Given the description of an element on the screen output the (x, y) to click on. 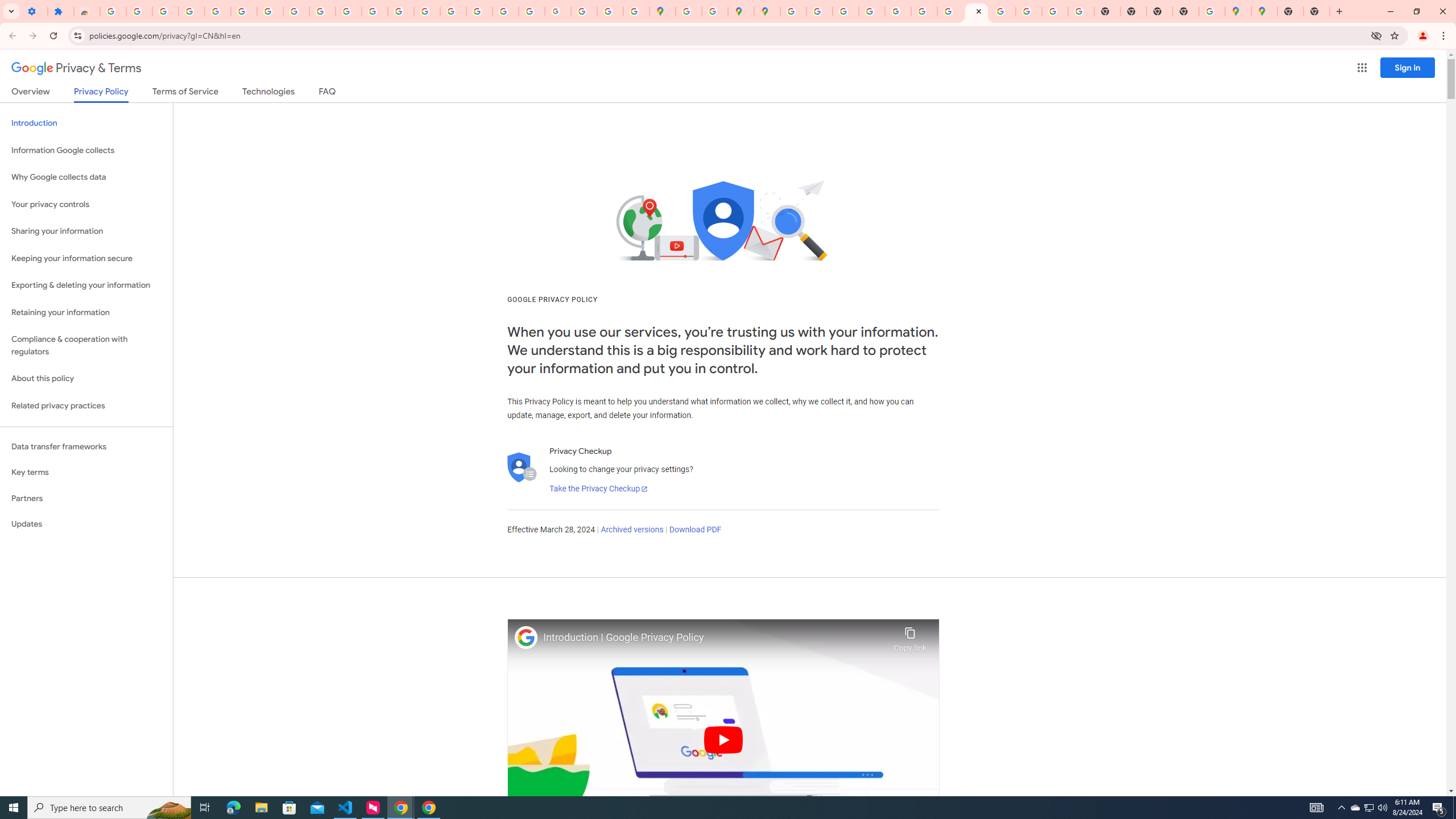
Related privacy practices (86, 405)
Photo image of Google (526, 636)
New Tab (1290, 11)
Google Account Help (243, 11)
New Tab (1316, 11)
